Given the description of an element on the screen output the (x, y) to click on. 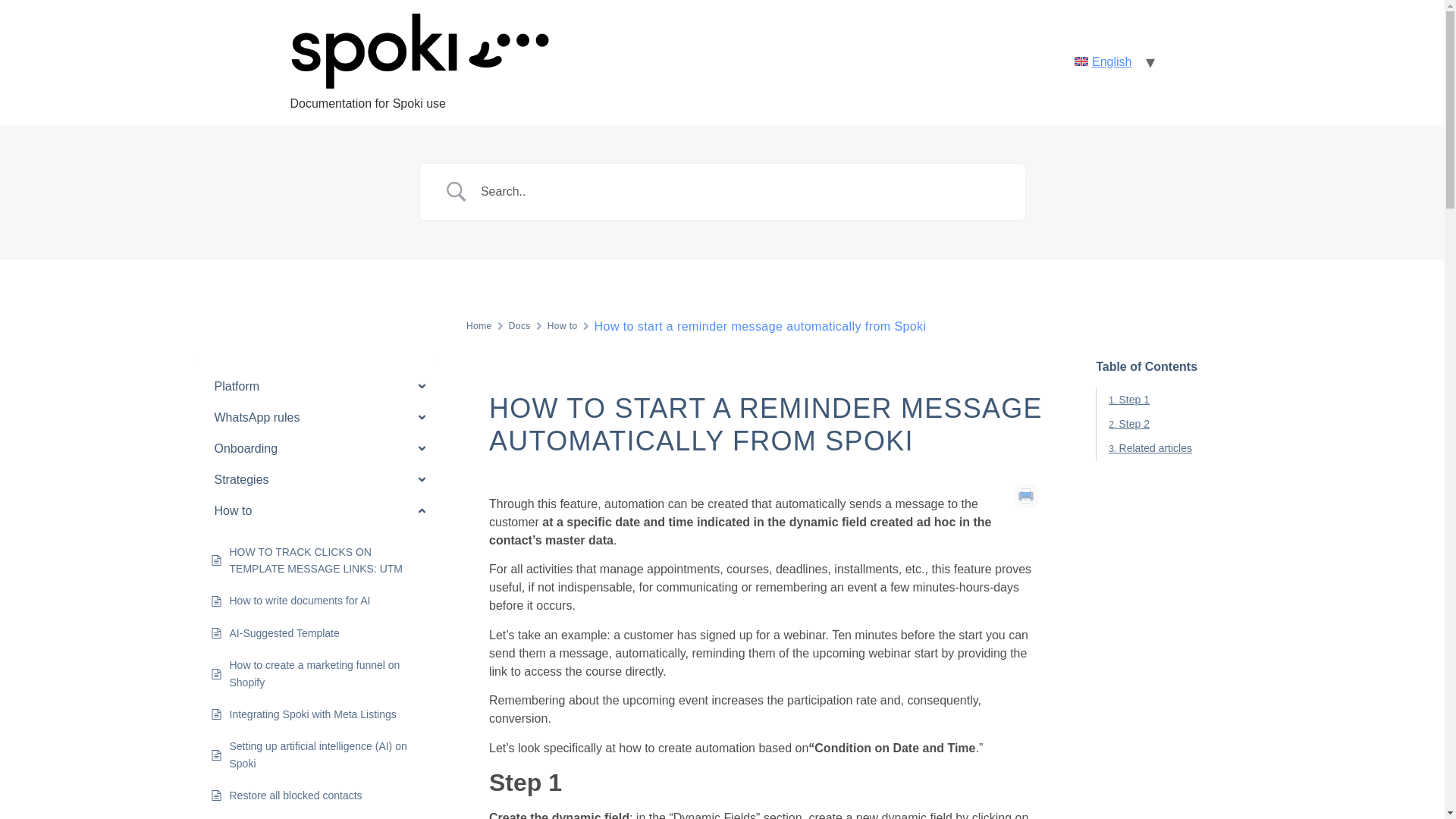
English (1102, 61)
Home (478, 325)
Docs (519, 325)
English (1102, 61)
